Given the description of an element on the screen output the (x, y) to click on. 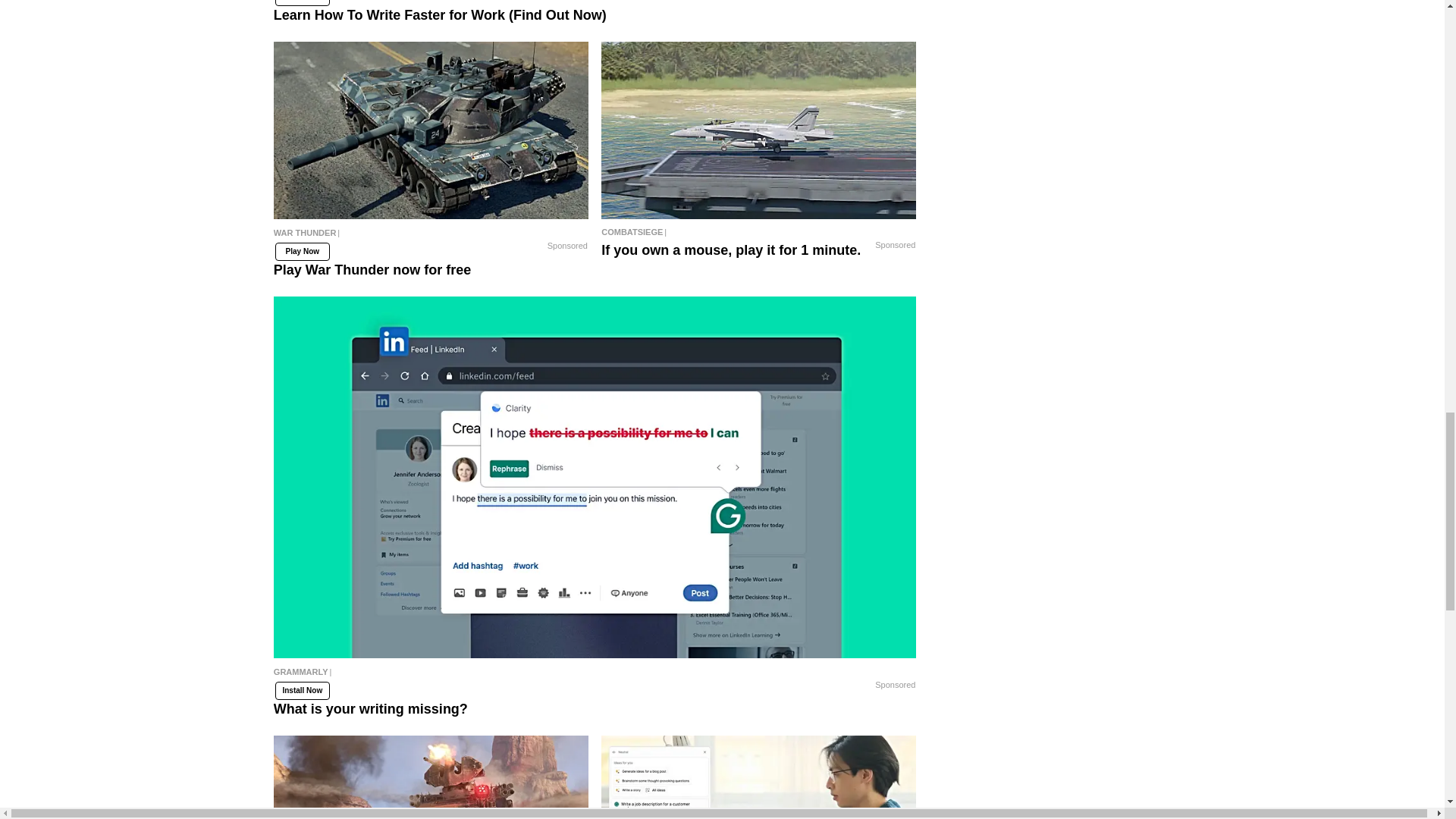
Play War Thunder now for free (430, 236)
If you own a mouse, play it for 1 minute. (758, 231)
What is your writing missing? (595, 674)
